Given the description of an element on the screen output the (x, y) to click on. 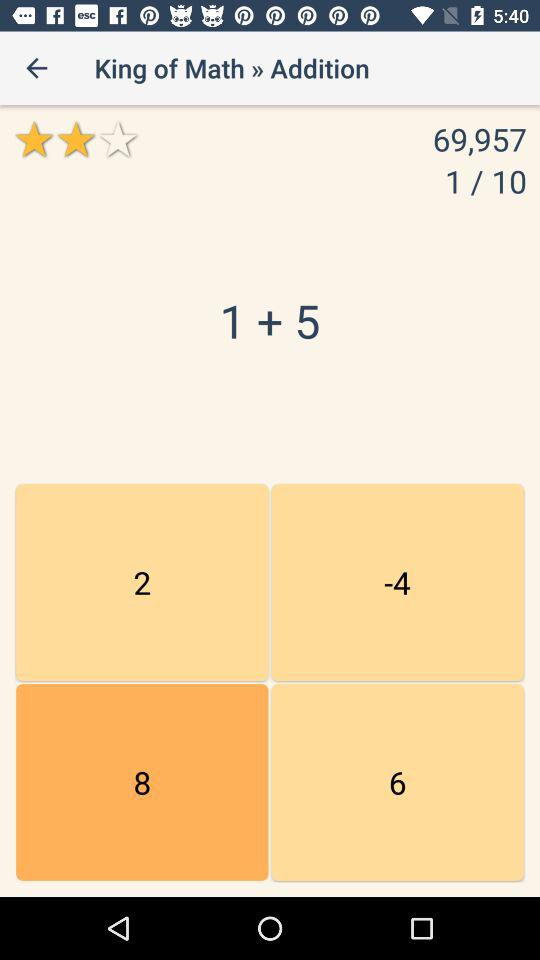
tap item on the right (397, 582)
